Given the description of an element on the screen output the (x, y) to click on. 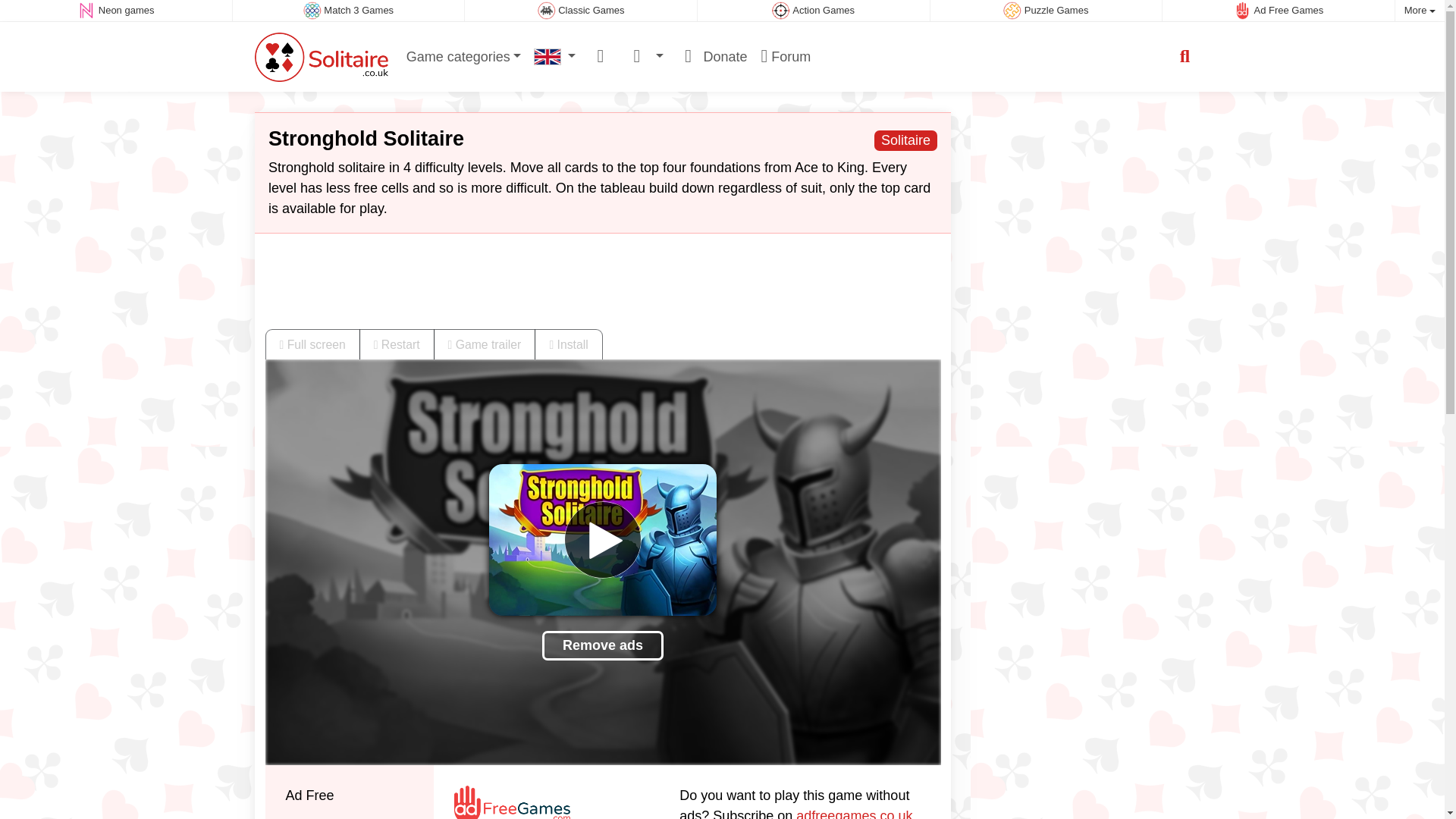
Classic Games (580, 10)
Game categories (463, 56)
Match 3 Games (348, 10)
Action Games (813, 10)
Classic Games (580, 10)
Ad Free Games (1278, 10)
 Donate (711, 56)
Neon games (115, 10)
Ad Free Games (1278, 10)
Solitaire Online (547, 55)
Puzzle Games (1045, 10)
Neon games (115, 10)
Solitaire Online (321, 56)
Match 3 Games (348, 10)
Search site (1184, 55)
